Given the description of an element on the screen output the (x, y) to click on. 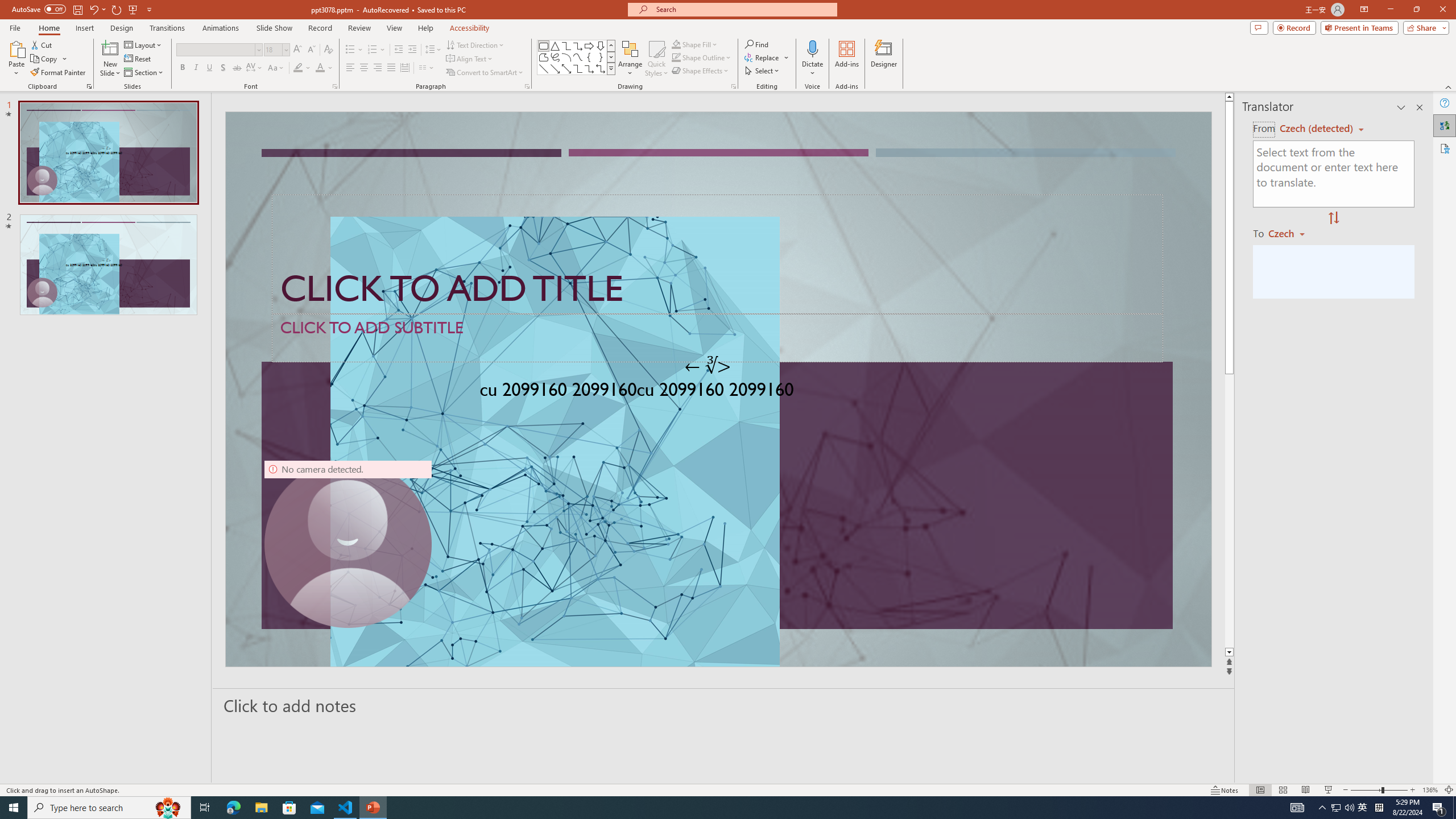
Connector: Elbow Double-Arrow (600, 68)
TextBox 7 (707, 366)
